Given the description of an element on the screen output the (x, y) to click on. 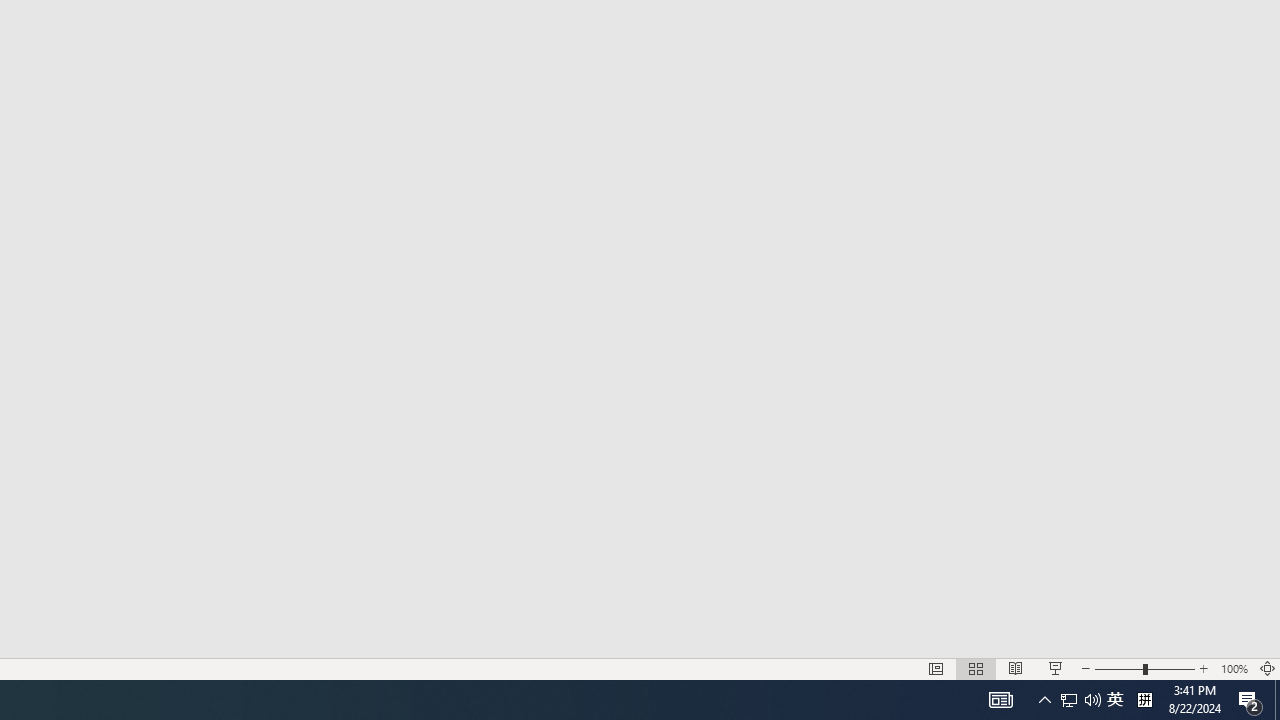
Zoom 100% (1234, 668)
